Given the description of an element on the screen output the (x, y) to click on. 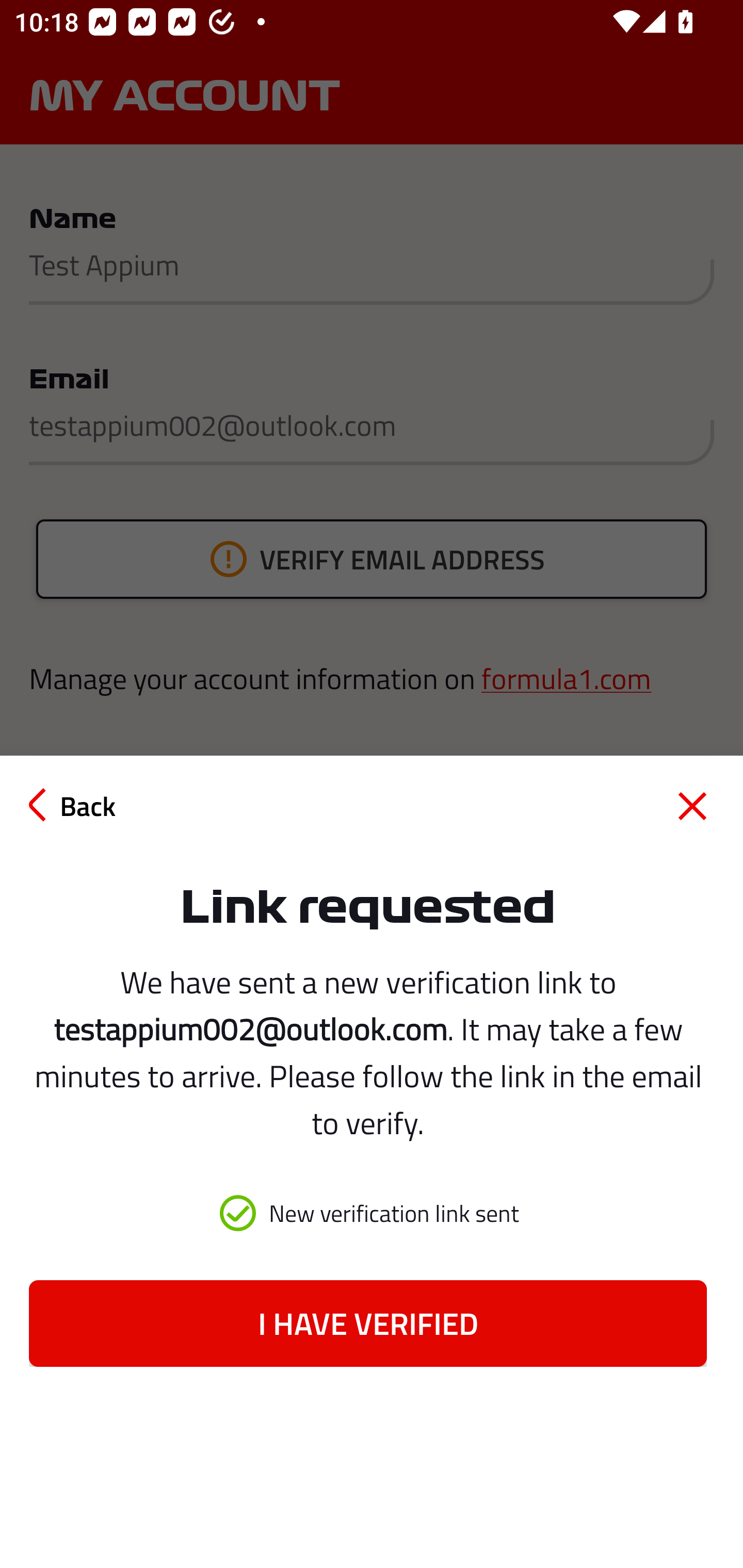
Back (71, 805)
I HAVE VERIFIED (367, 1323)
